Given the description of an element on the screen output the (x, y) to click on. 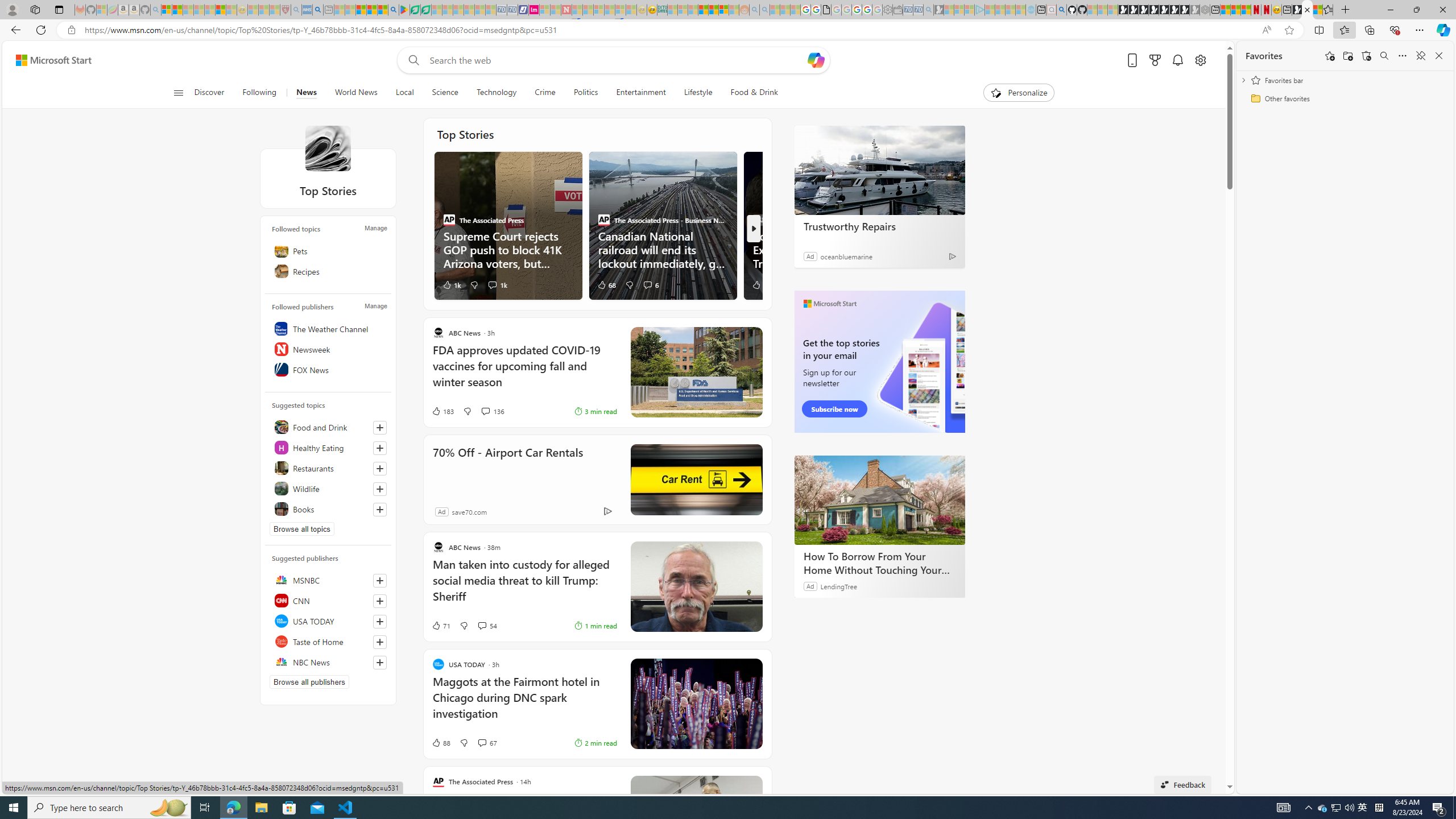
70% Off - Airport Car Rentals (696, 479)
View comments 6 Comment (649, 284)
NBC News (327, 661)
88 Like (440, 742)
Top Stories (327, 148)
